Given the description of an element on the screen output the (x, y) to click on. 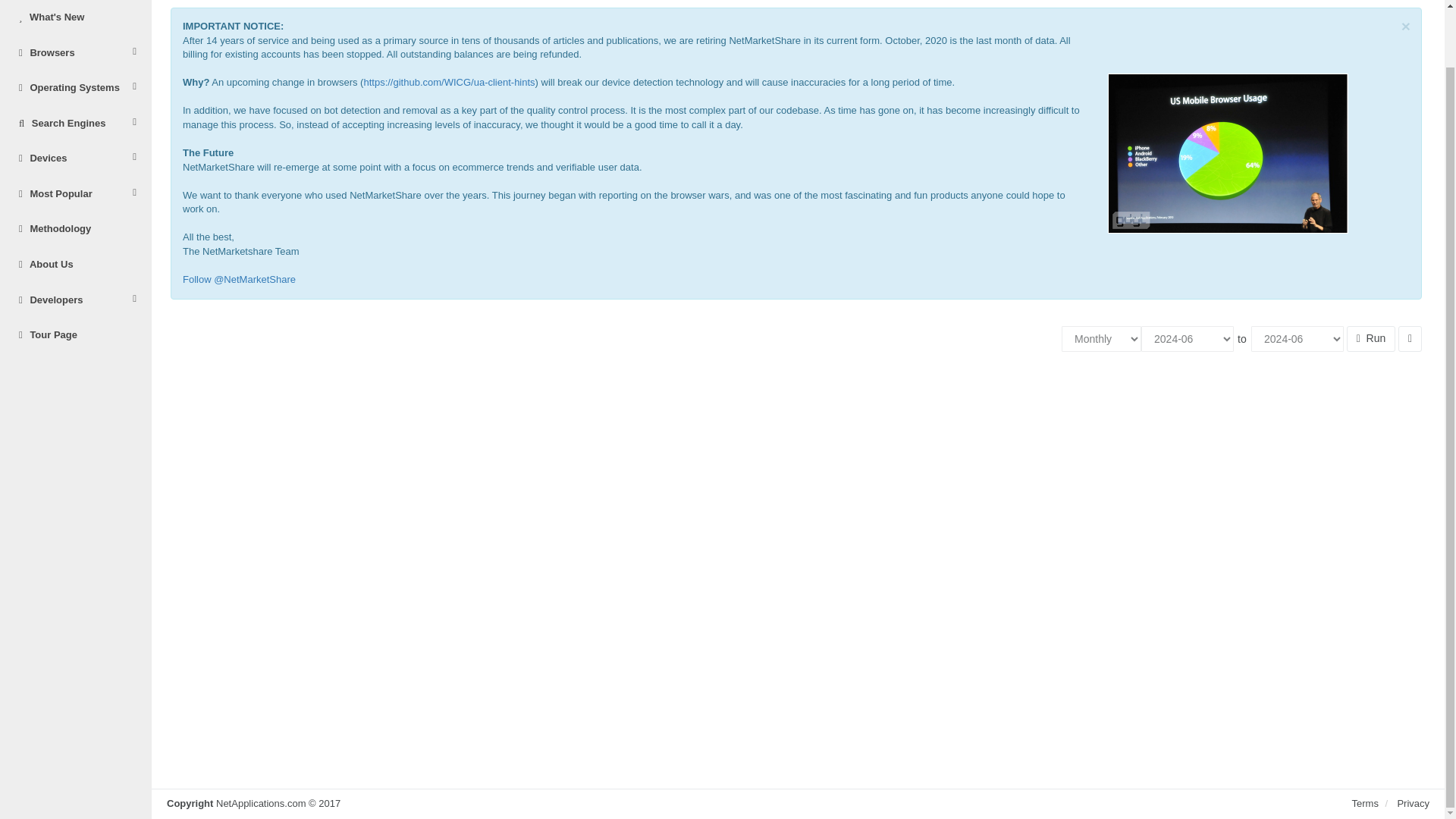
Devices (75, 158)
to (1241, 338)
Developers (75, 299)
Browsers (75, 53)
Operating Systems (75, 88)
Refresh data (1370, 337)
Methodology (75, 229)
Search Engines (75, 123)
What's New (75, 18)
Tour Page (75, 334)
About Us (75, 264)
Most Popular (75, 194)
